Given the description of an element on the screen output the (x, y) to click on. 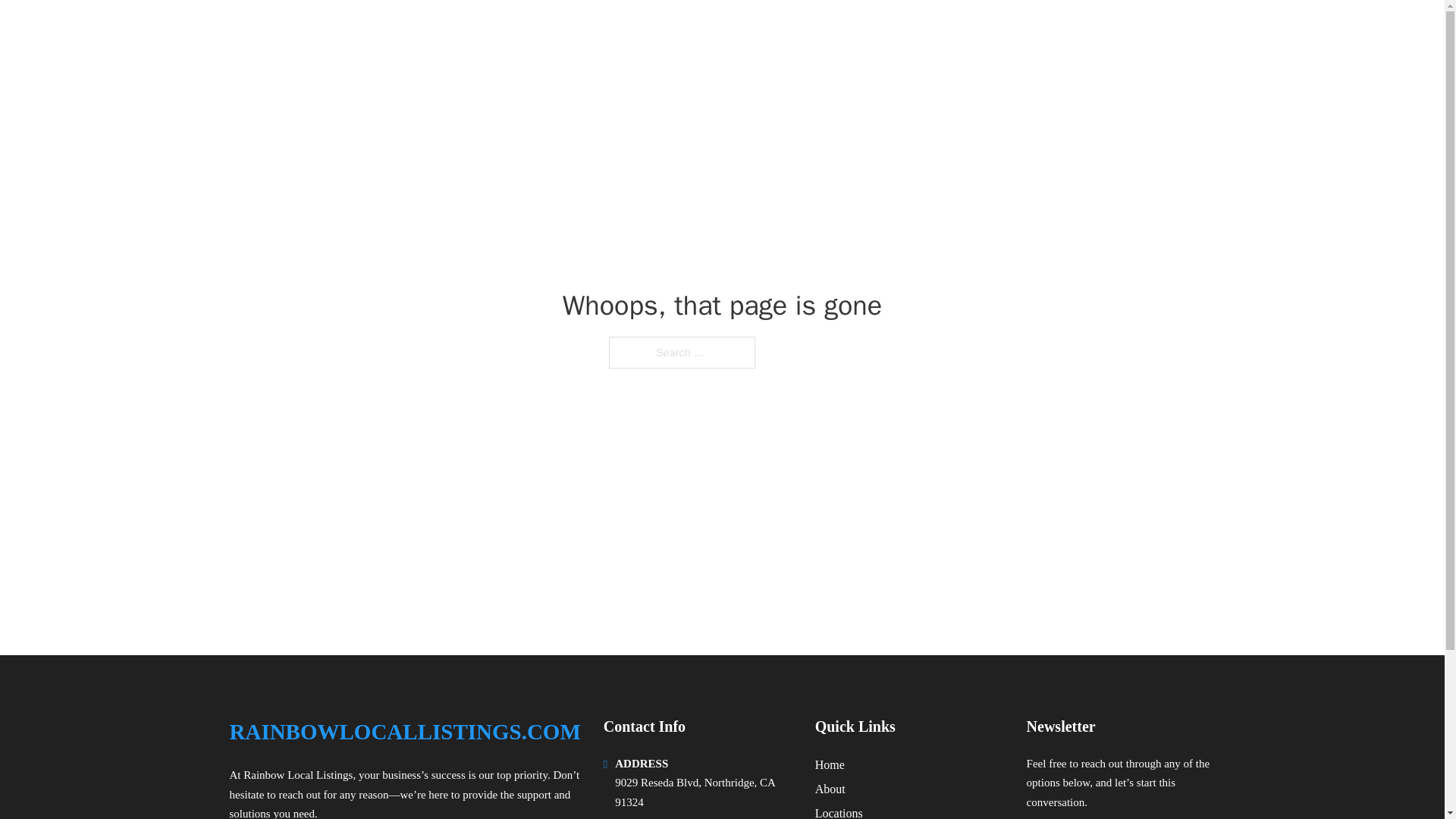
RAINBOWLOCALLISTINGS.COM (421, 31)
LOCATIONS (1098, 31)
About (830, 788)
Home (829, 764)
RAINBOWLOCALLISTINGS.COM (403, 732)
Locations (839, 811)
HOME (1025, 31)
